Given the description of an element on the screen output the (x, y) to click on. 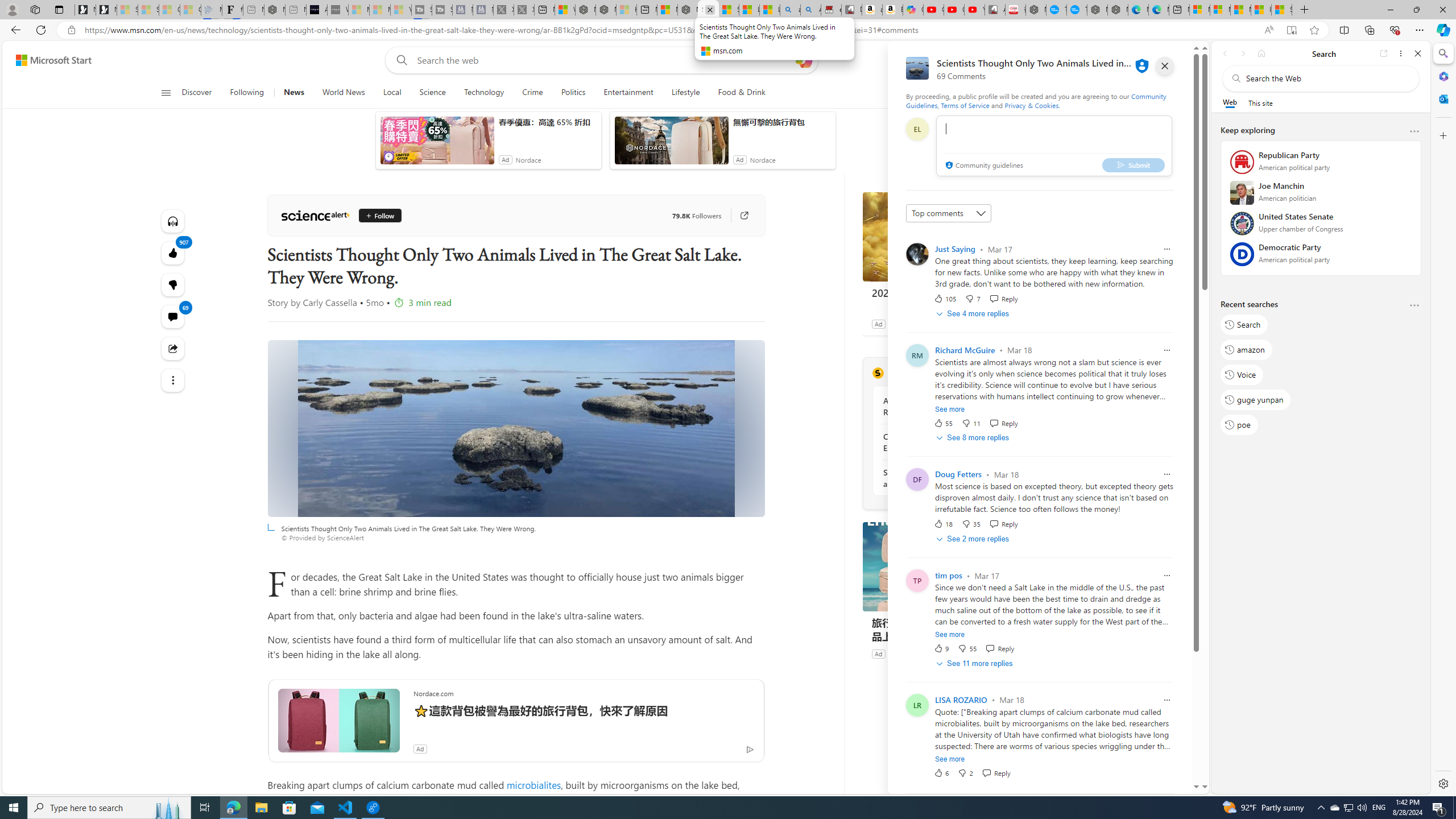
Close (1417, 53)
Following (246, 92)
Nordace - Nordace has arrived Hong Kong (1117, 9)
Report comment (1166, 699)
Local (392, 92)
Skip to footer (46, 59)
Address and search bar (669, 29)
Workspaces (34, 9)
6 Like (940, 772)
AI Voice Changer for PC and Mac - Voice.ai (316, 9)
Settings and more (Alt+F) (1419, 29)
World News (343, 92)
See 8 more replies (973, 437)
Web scope (1230, 102)
